Given the description of an element on the screen output the (x, y) to click on. 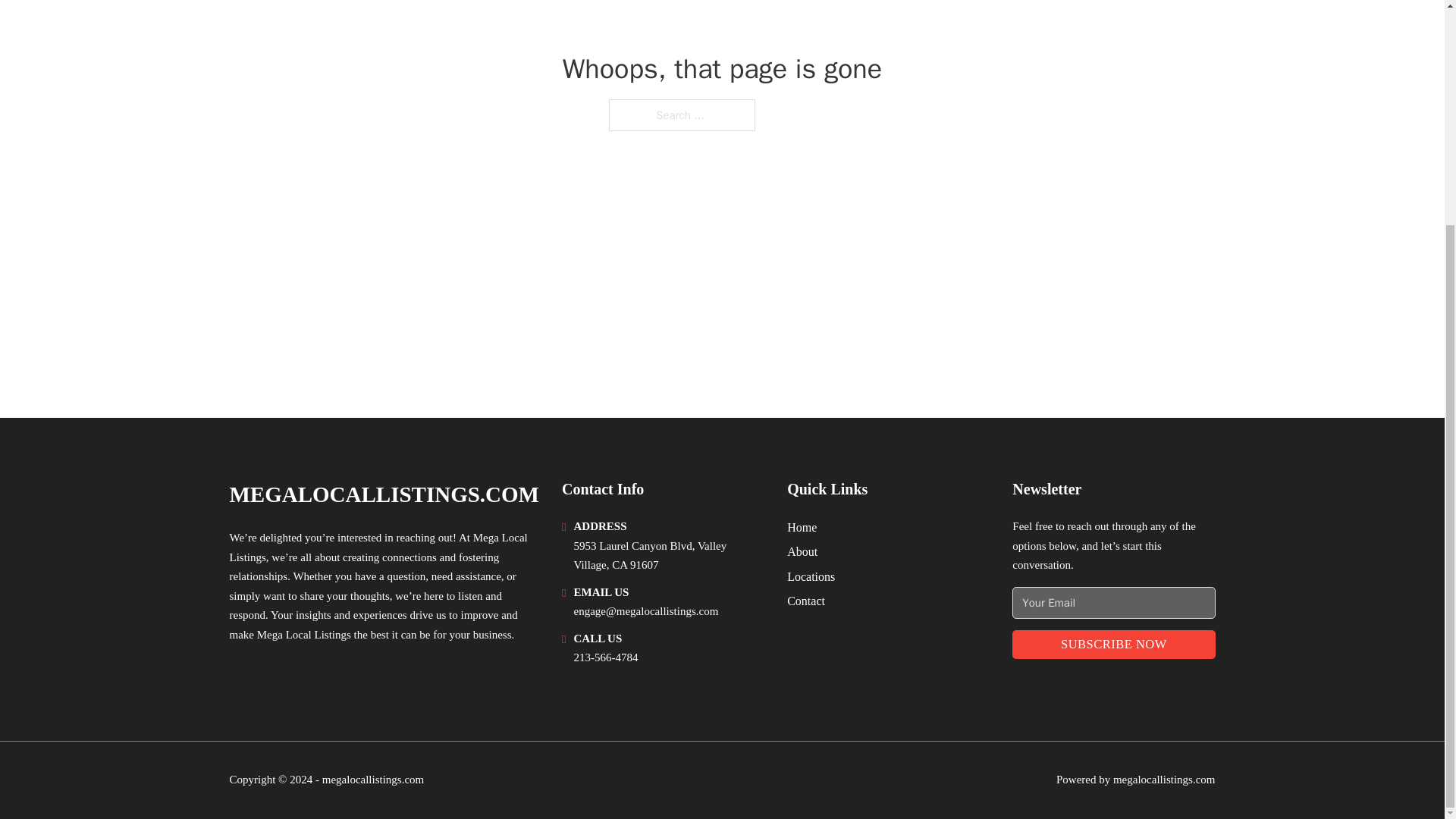
Locations (810, 576)
MEGALOCALLISTINGS.COM (383, 494)
SUBSCRIBE NOW (1112, 644)
About (801, 551)
Contact (806, 600)
213-566-4784 (605, 657)
Home (801, 526)
